Given the description of an element on the screen output the (x, y) to click on. 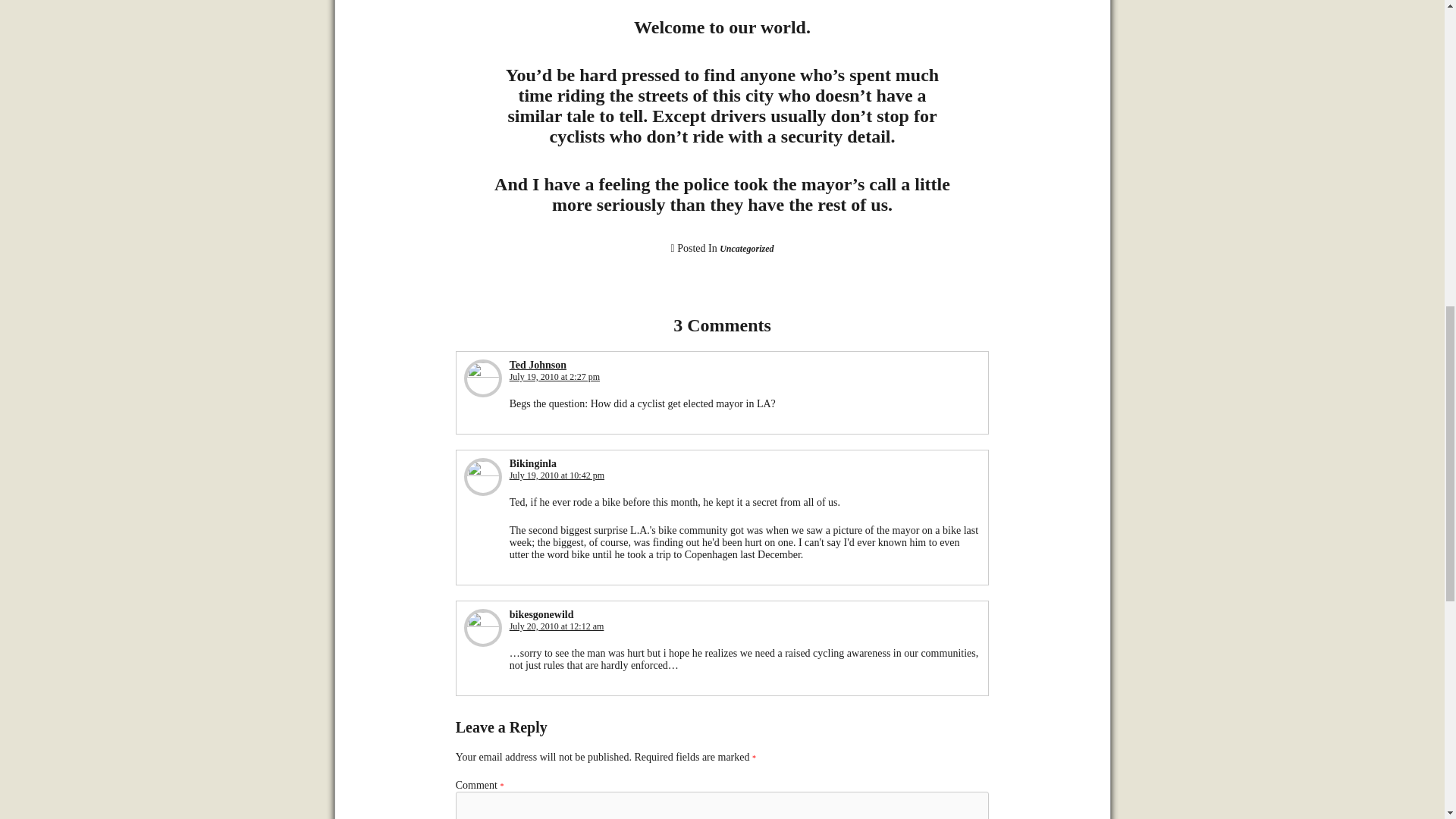
July 19, 2010 at 2:27 pm (554, 376)
July 20, 2010 at 12:12 am (556, 625)
Ted Johnson (537, 365)
July 19, 2010 at 10:42 pm (556, 475)
